Given the description of an element on the screen output the (x, y) to click on. 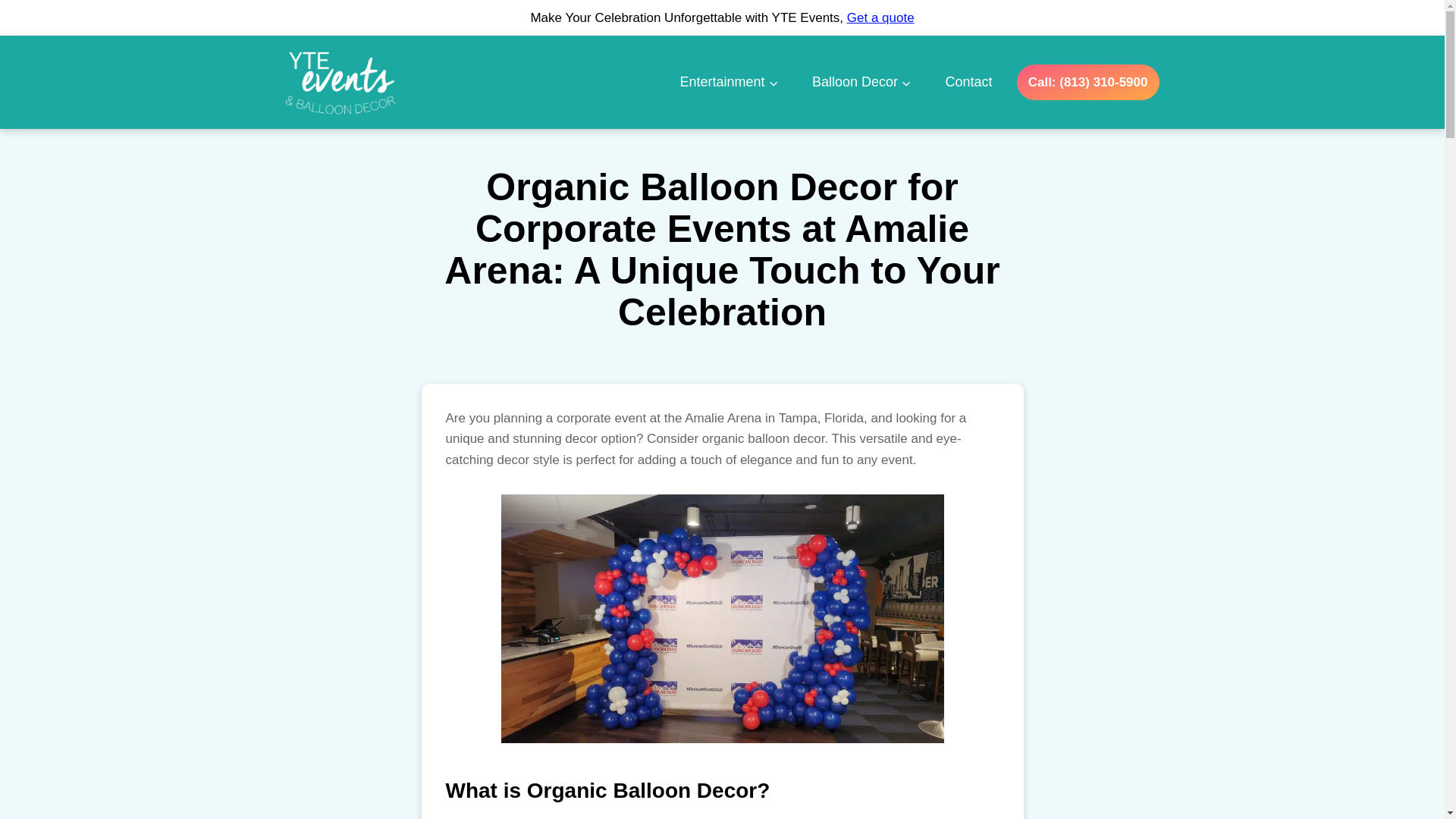
Entertainment (728, 82)
Balloon Decor (861, 82)
Contact (968, 82)
Get a quote (880, 17)
Get a quote (880, 17)
